Given the description of an element on the screen output the (x, y) to click on. 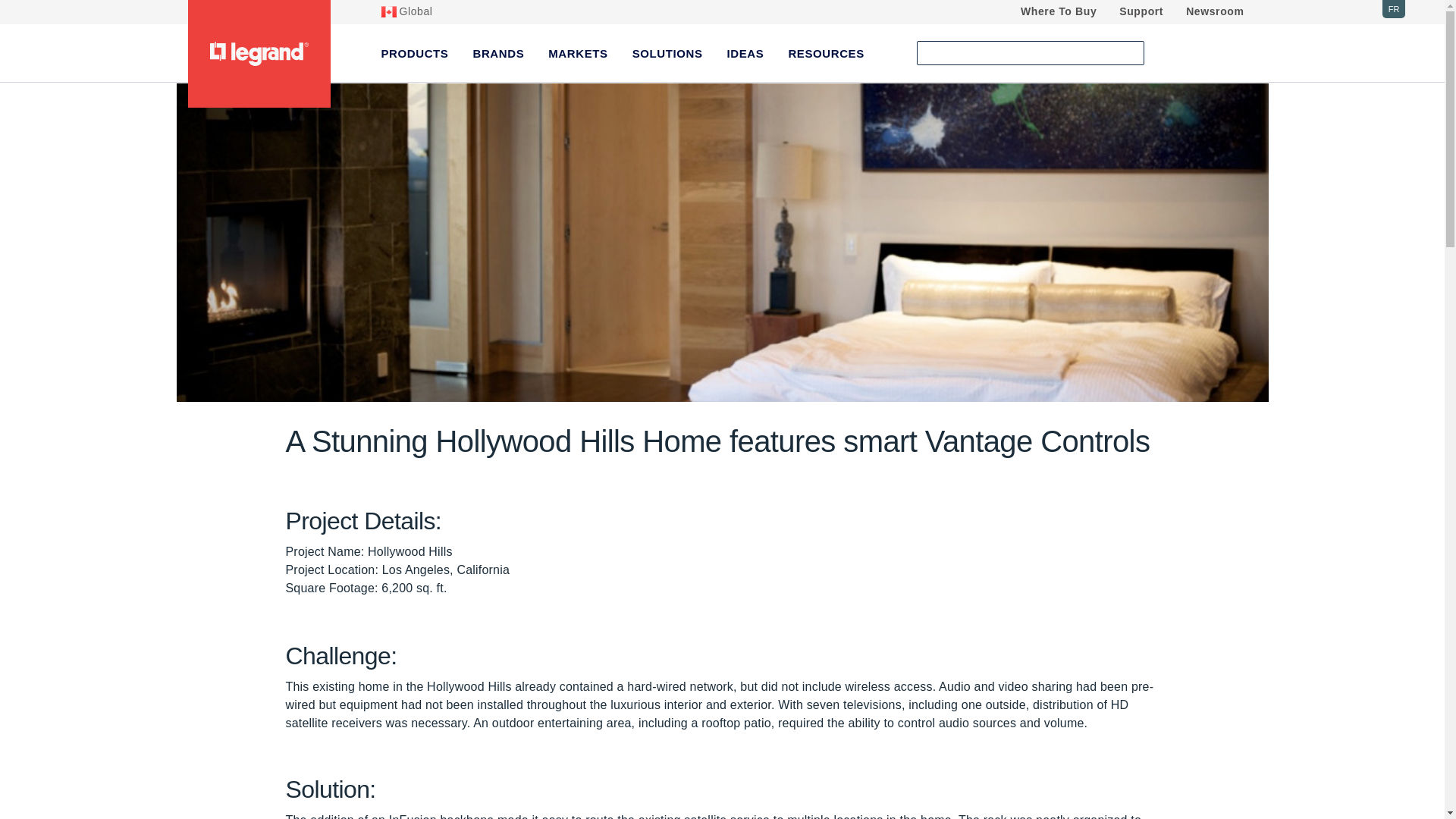
Where To Buy (1058, 11)
Global (406, 11)
Legrand US (258, 53)
Support (1141, 11)
Change Language (1393, 9)
PRODUCTS (414, 52)
Newsroom (1214, 11)
